Given the description of an element on the screen output the (x, y) to click on. 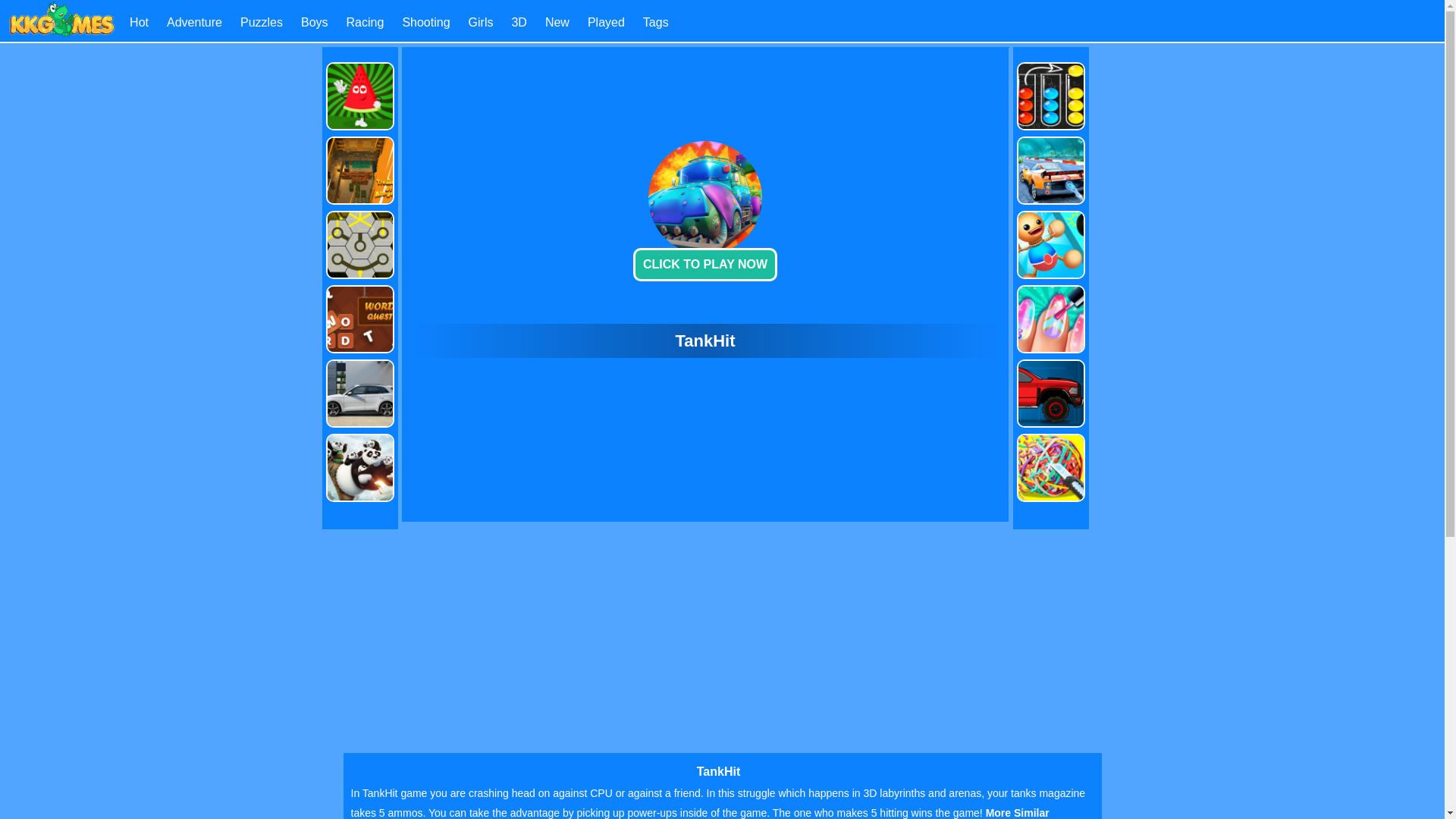
CLICK TO PLAY NOW (705, 264)
3D (518, 21)
Boys (315, 21)
Girls (480, 21)
Puzzles (261, 21)
Played (606, 21)
More Similar Games (699, 812)
Shooting (425, 21)
CLICK TO PLAY NOW (705, 207)
